Given the description of an element on the screen output the (x, y) to click on. 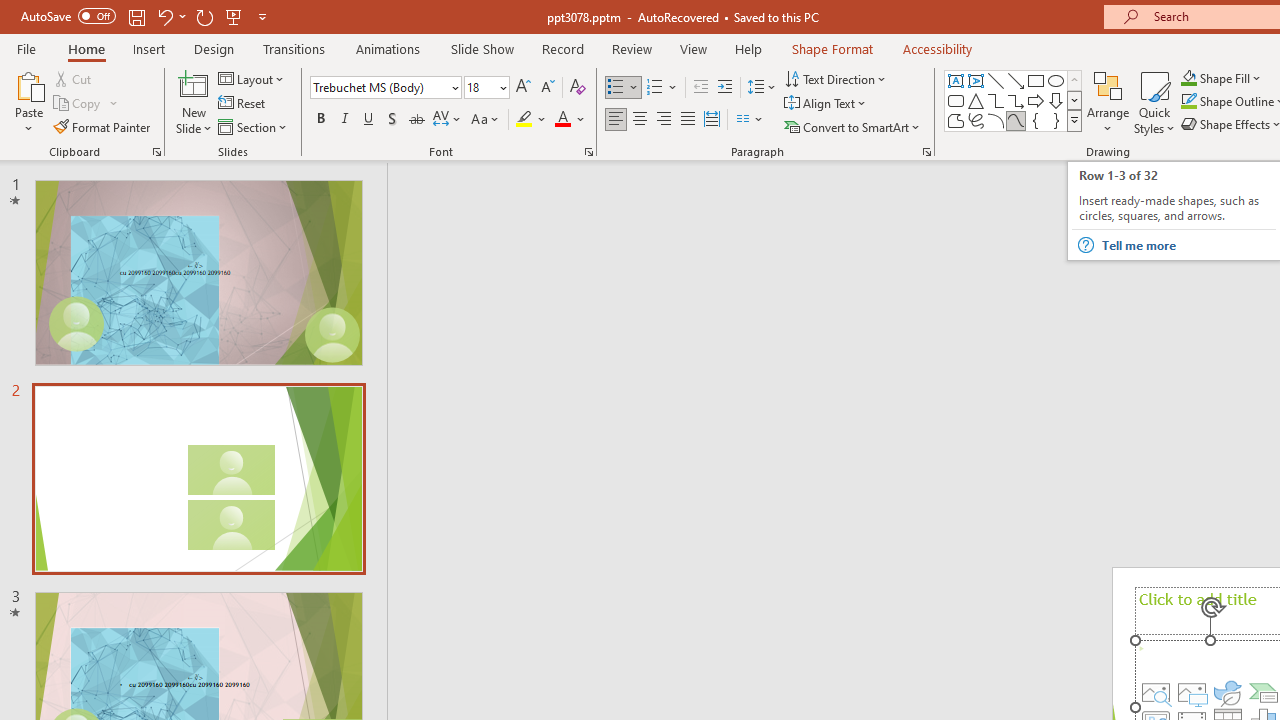
Insert an Icon (1228, 692)
